Given the description of an element on the screen output the (x, y) to click on. 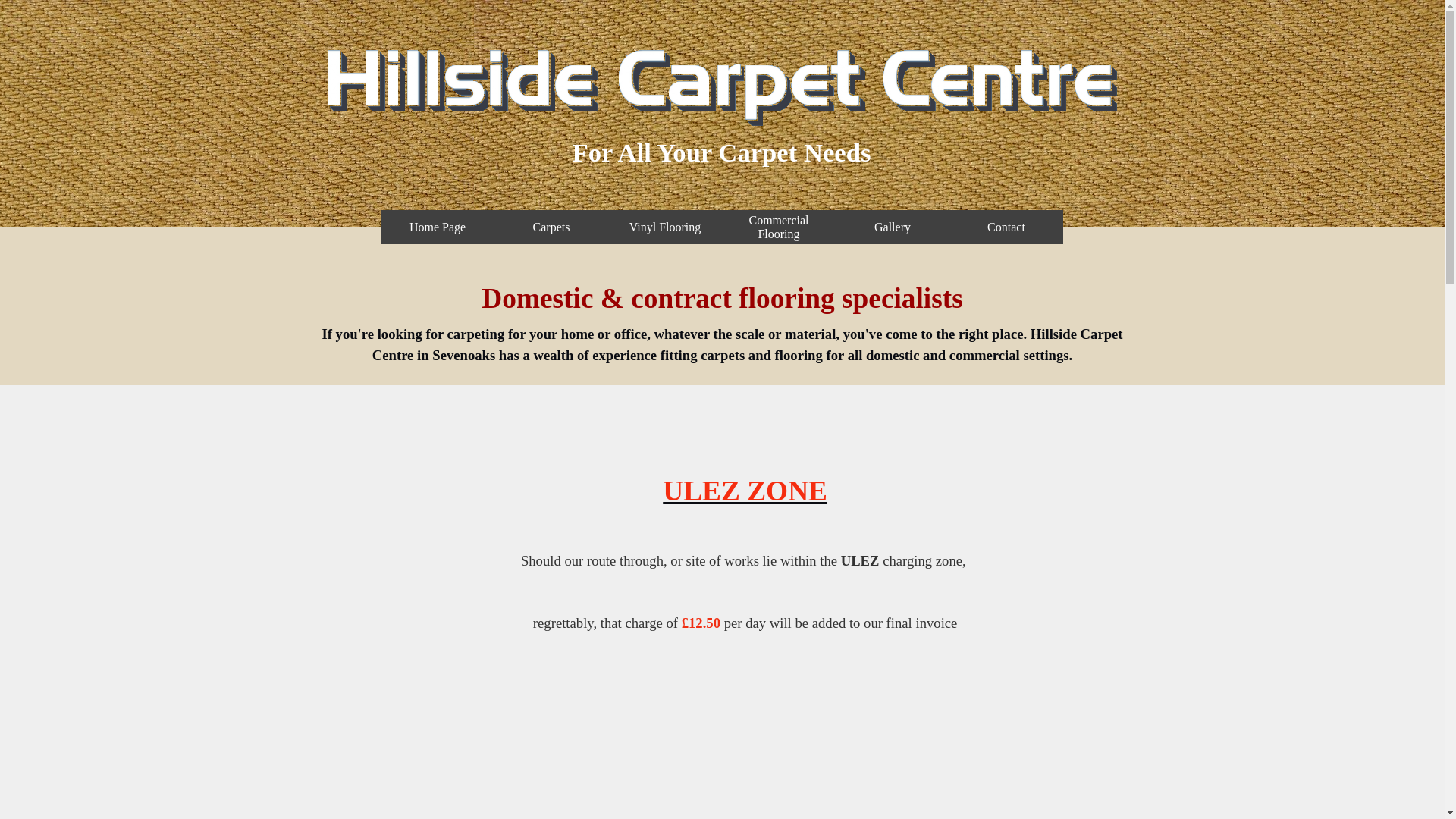
Commercial Flooring (778, 226)
Hillside Carpet Centre (721, 81)
Carpets (550, 226)
Home Page (437, 226)
Gallery (892, 226)
Vinyl Flooring (665, 226)
Contact (1006, 226)
